Given the description of an element on the screen output the (x, y) to click on. 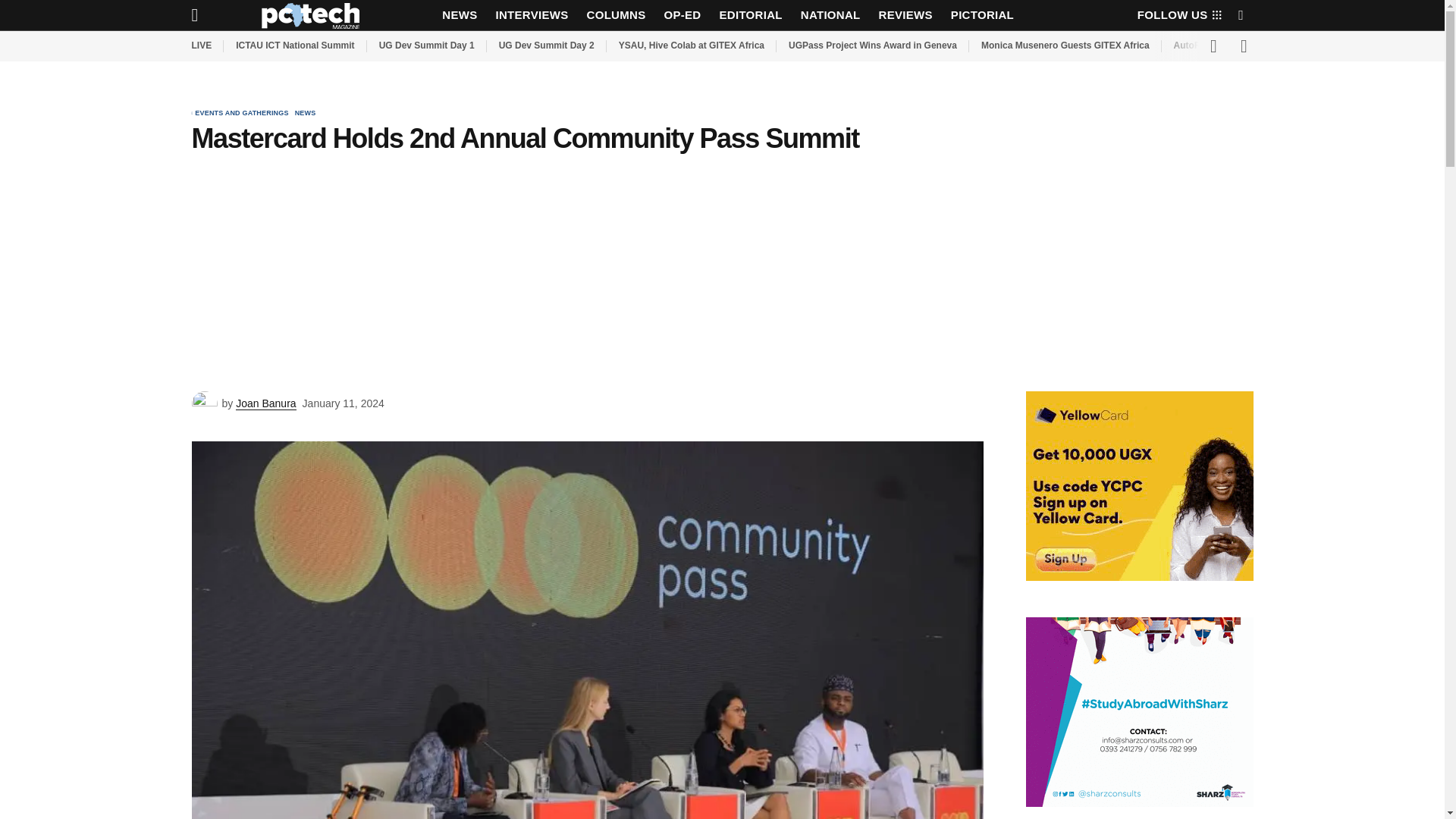
NEWS (459, 15)
